Given the description of an element on the screen output the (x, y) to click on. 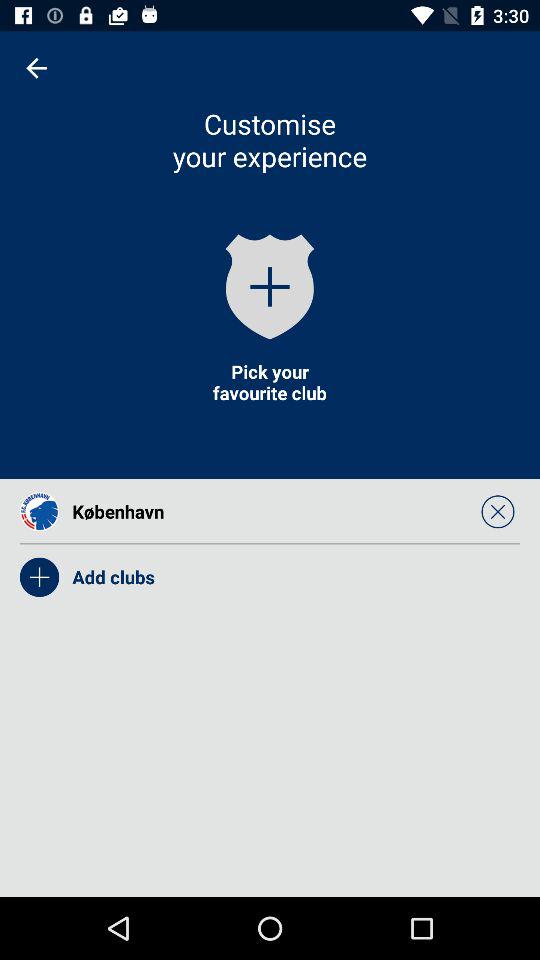
select icon at the top left corner (36, 68)
